Given the description of an element on the screen output the (x, y) to click on. 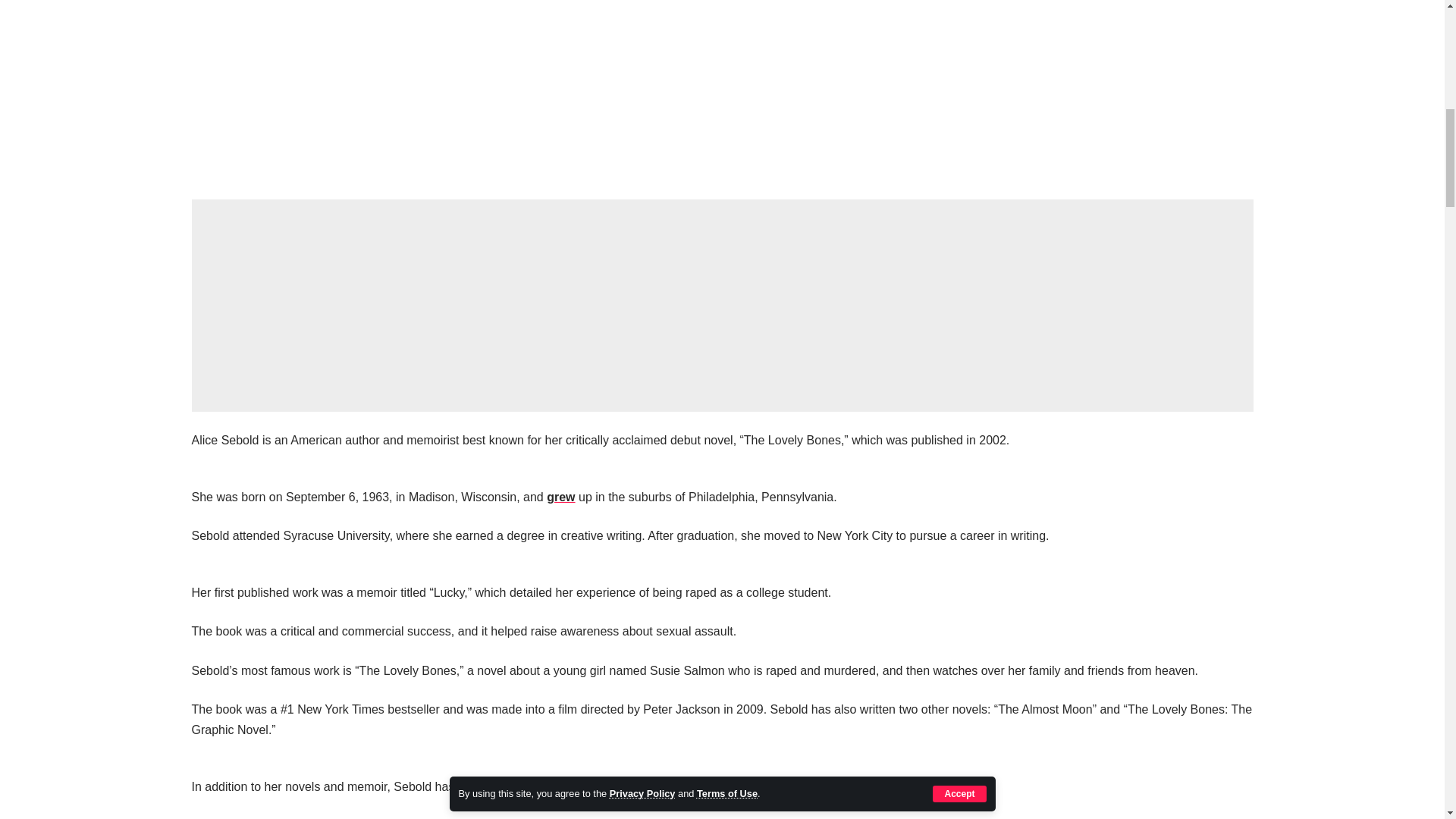
Advertisement (721, 305)
grew (561, 496)
